Given the description of an element on the screen output the (x, y) to click on. 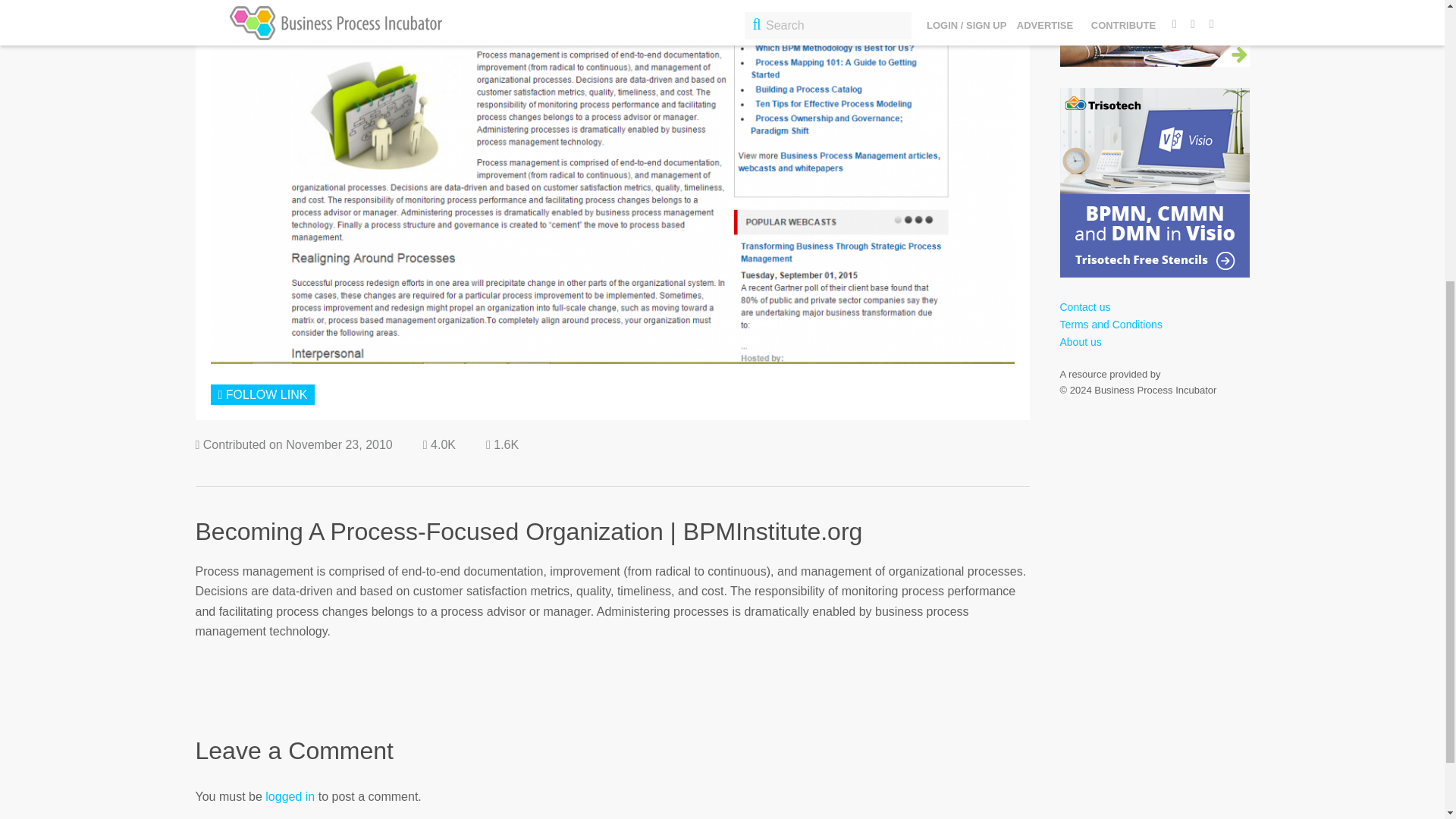
Login or Sign Up (263, 394)
Terms and Conditions (1110, 324)
Contact us (1084, 306)
logged in (289, 796)
FOLLOW LINK (263, 394)
About us (1080, 341)
